Given the description of an element on the screen output the (x, y) to click on. 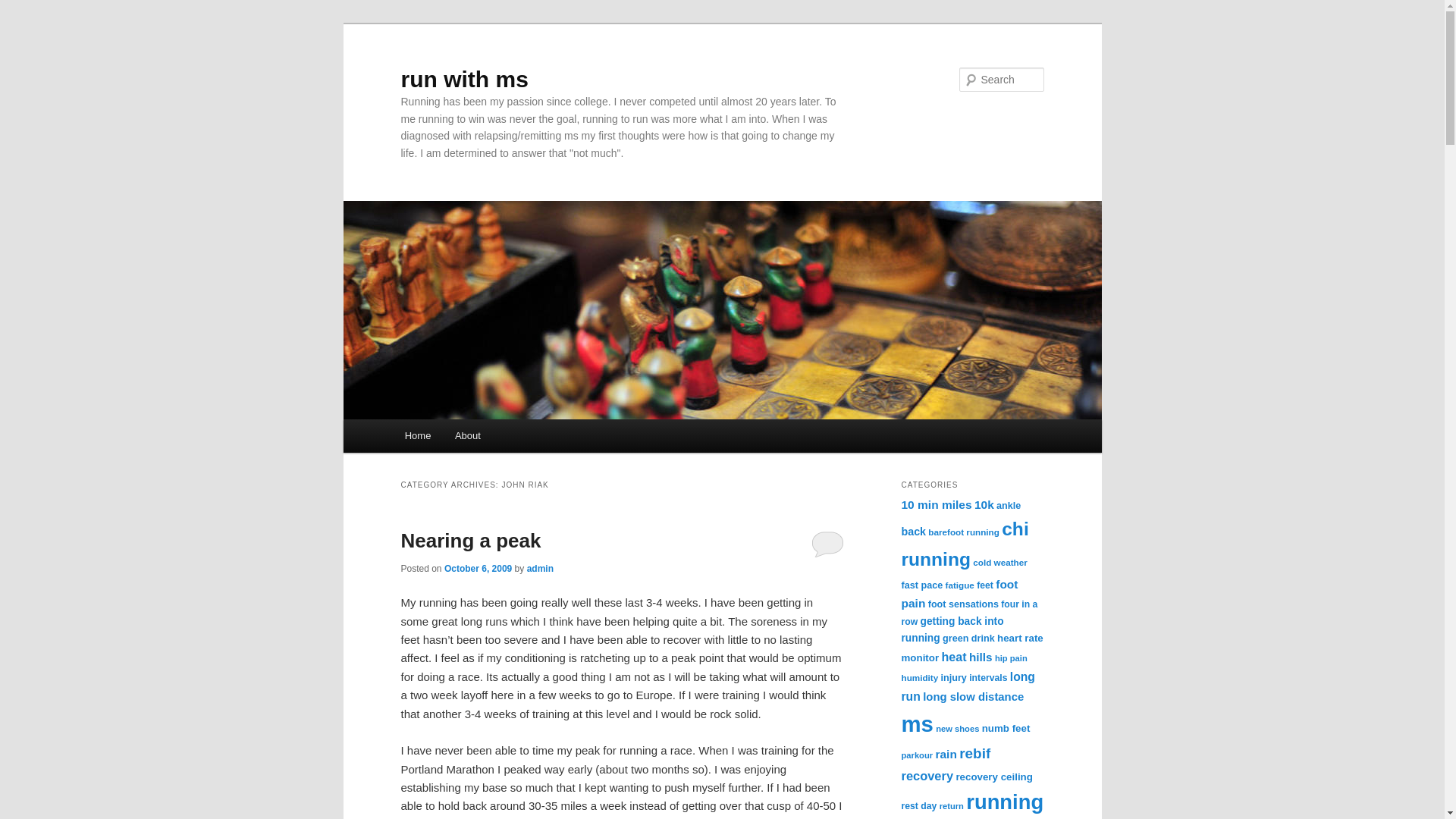
About (467, 435)
10:11 pm (478, 568)
admin (540, 568)
Search (24, 8)
run with ms (463, 78)
fast pace (921, 584)
fatigue (959, 584)
Skip to secondary content (479, 438)
Skip to primary content (472, 438)
October 6, 2009 (478, 568)
Permalink to Nearing a peak (470, 540)
back (913, 531)
Skip to secondary content (479, 438)
Home (417, 435)
cold weather (999, 562)
